Given the description of an element on the screen output the (x, y) to click on. 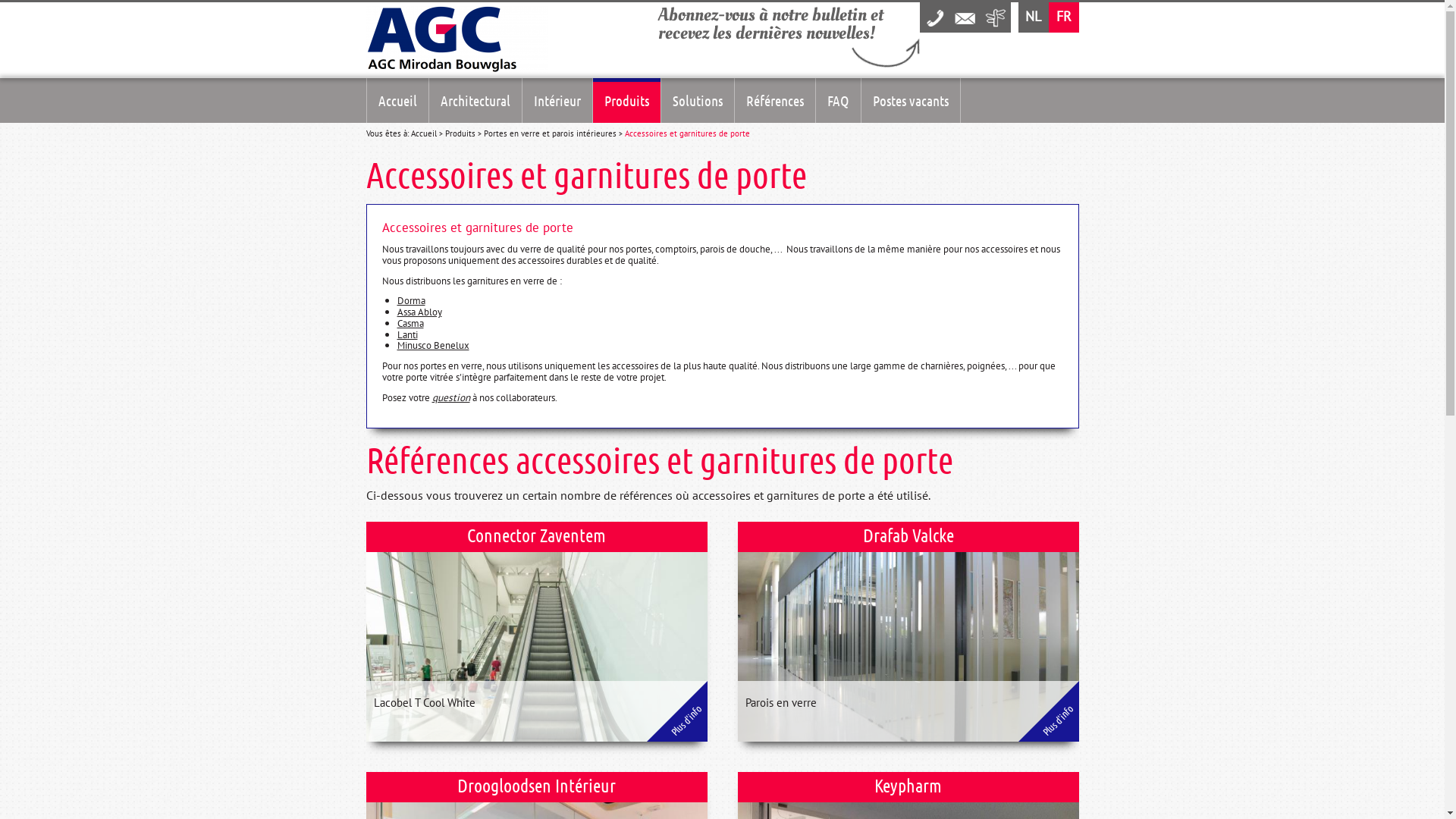
Contactez-nous au 056 36 58 80. Element type: hover (934, 17)
Venez! Element type: hover (994, 17)
  Element type: text (934, 17)
Solutions Element type: text (697, 100)
Produits Element type: text (459, 133)
Postes vacants Element type: text (910, 100)
Dorma Element type: text (411, 300)
NL Element type: text (1032, 17)
Minusco Benelux Element type: text (433, 344)
Connector Zaventem - Connector Element type: hover (535, 631)
Accueil Element type: text (397, 100)
Accessoires et garnitures de porte Element type: text (686, 133)
Assa Abloy Element type: text (419, 311)
Drafab Valcke
Parois en verre
Plus d'info Element type: text (907, 631)
FR Element type: text (1063, 17)
Architectural Element type: text (475, 100)
Connector Zaventem
Lacobel T Cool White
Plus d'info Element type: text (535, 631)
question Element type: text (451, 397)
Lanti Element type: text (407, 334)
Accueil Element type: text (423, 133)
Casma Element type: text (410, 322)
  Element type: text (964, 17)
  Element type: text (994, 17)
Drafab Valcke - Drafab Valcke Element type: hover (907, 631)
FAQ Element type: text (837, 100)
Produits Element type: text (626, 100)
